Given the description of an element on the screen output the (x, y) to click on. 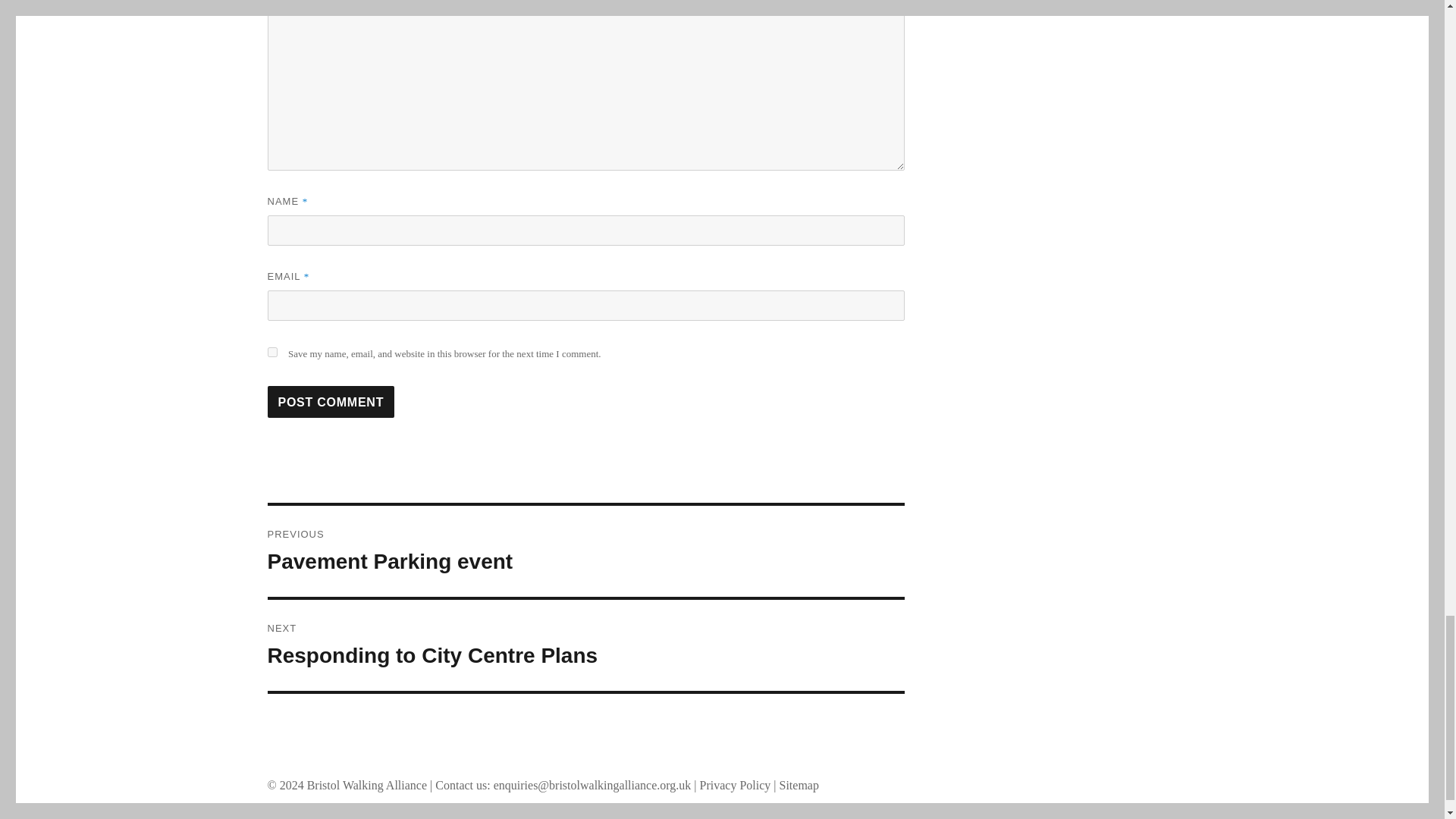
Post Comment (585, 551)
Post Comment (330, 401)
Privacy Policy (585, 645)
yes (330, 401)
Sitemap (735, 784)
